Given the description of an element on the screen output the (x, y) to click on. 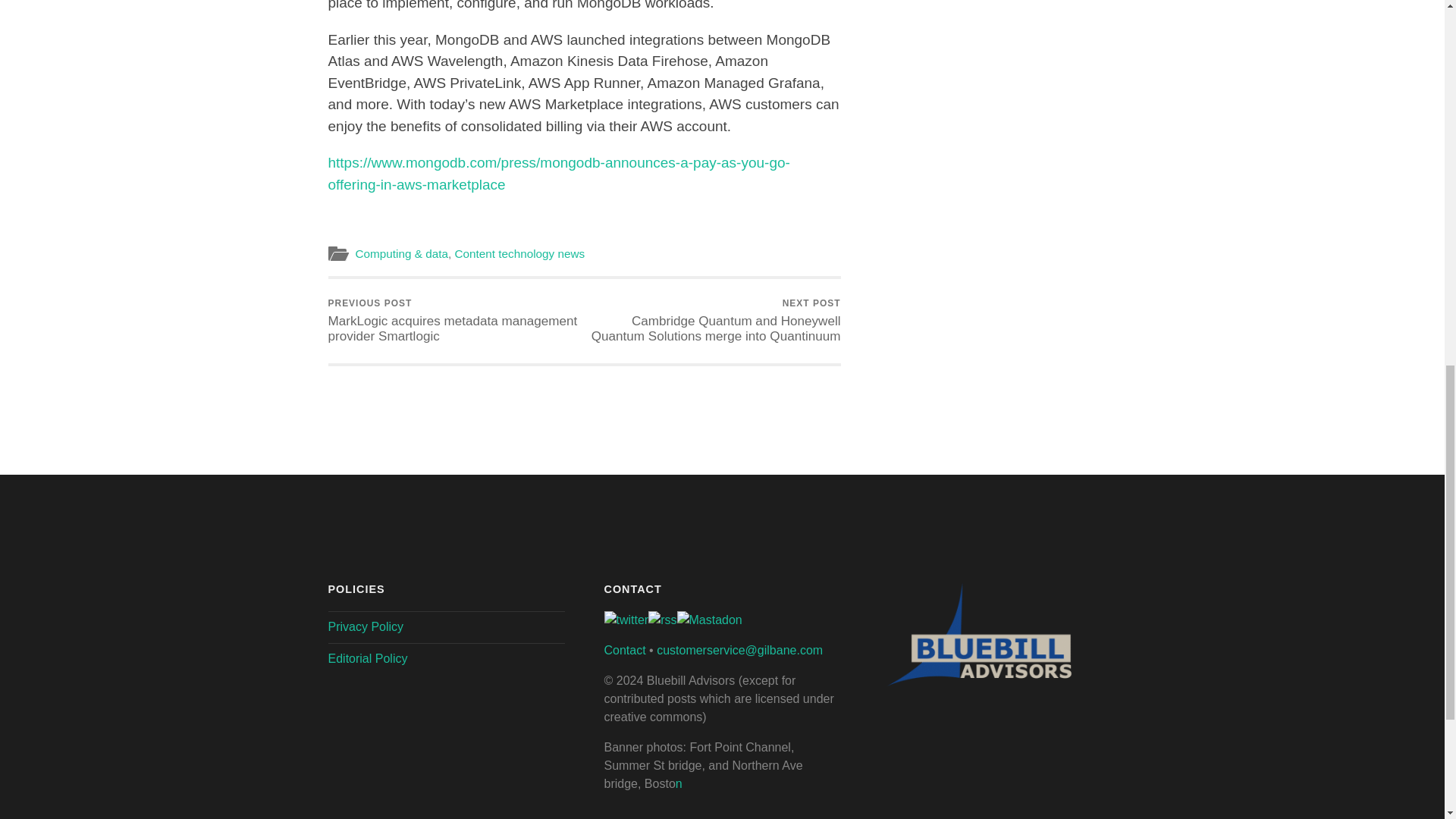
Gilbane twitter feed (625, 619)
Mastadon-logo-purple-32x34 (709, 619)
